Given the description of an element on the screen output the (x, y) to click on. 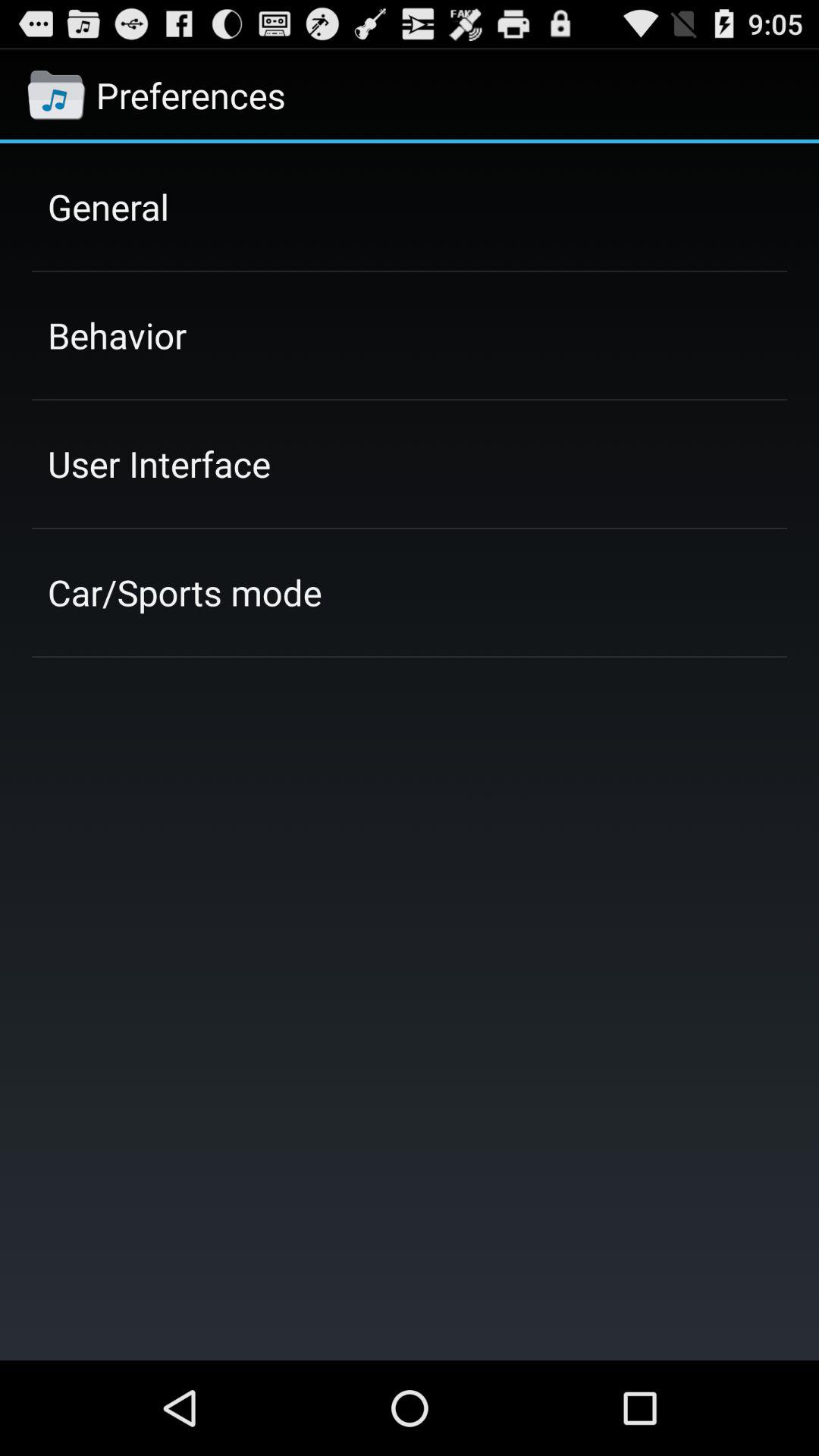
choose the icon below the general icon (116, 335)
